Given the description of an element on the screen output the (x, y) to click on. 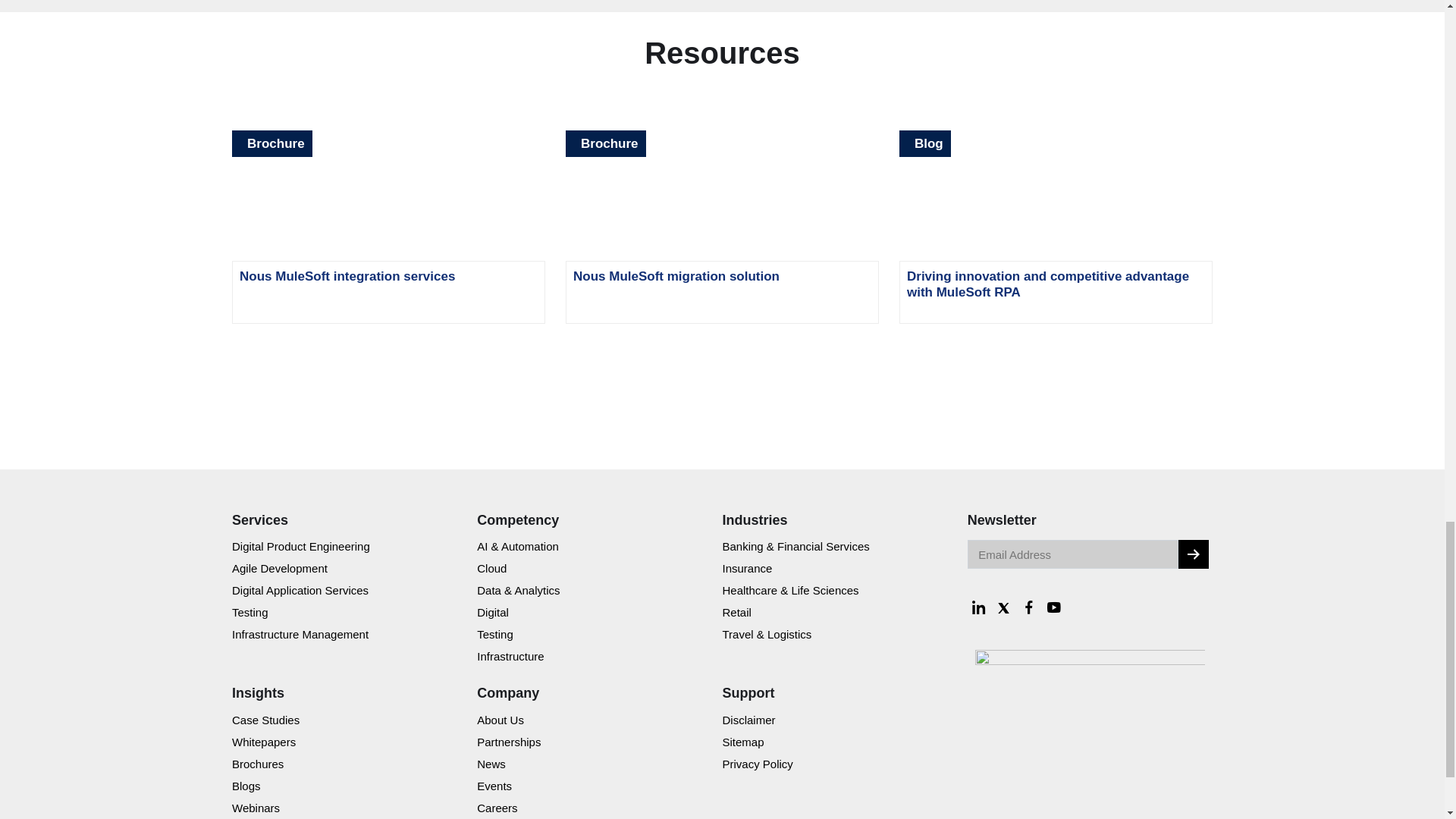
. (1192, 553)
